Given the description of an element on the screen output the (x, y) to click on. 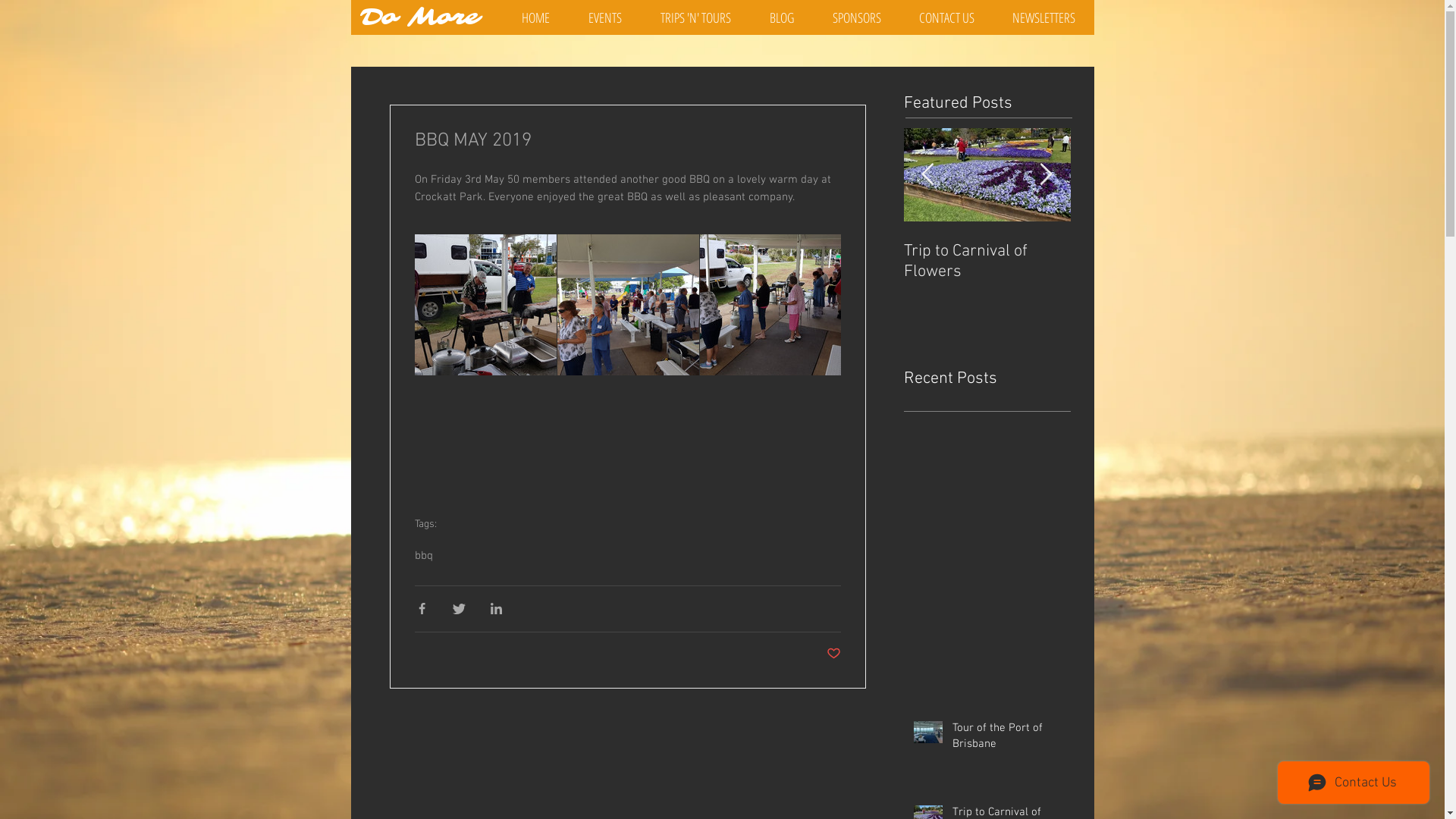
TRIPS 'N' TOURS Element type: text (695, 17)
HOME Element type: text (535, 17)
bbq Element type: text (423, 555)
CONTACT US Element type: text (945, 17)
SPONSORS Element type: text (855, 17)
NEWSLETTERS Element type: text (1043, 17)
Post not marked as liked Element type: text (833, 654)
Tour of the Port of Brisbane Element type: text (1006, 739)
BLOG Element type: text (781, 17)
Tour of the Port of Brisbane Element type: text (986, 261)
Do More Element type: text (419, 18)
Trip to Carnival of Flowers Element type: text (1153, 261)
EVENTS Element type: text (604, 17)
